Given the description of an element on the screen output the (x, y) to click on. 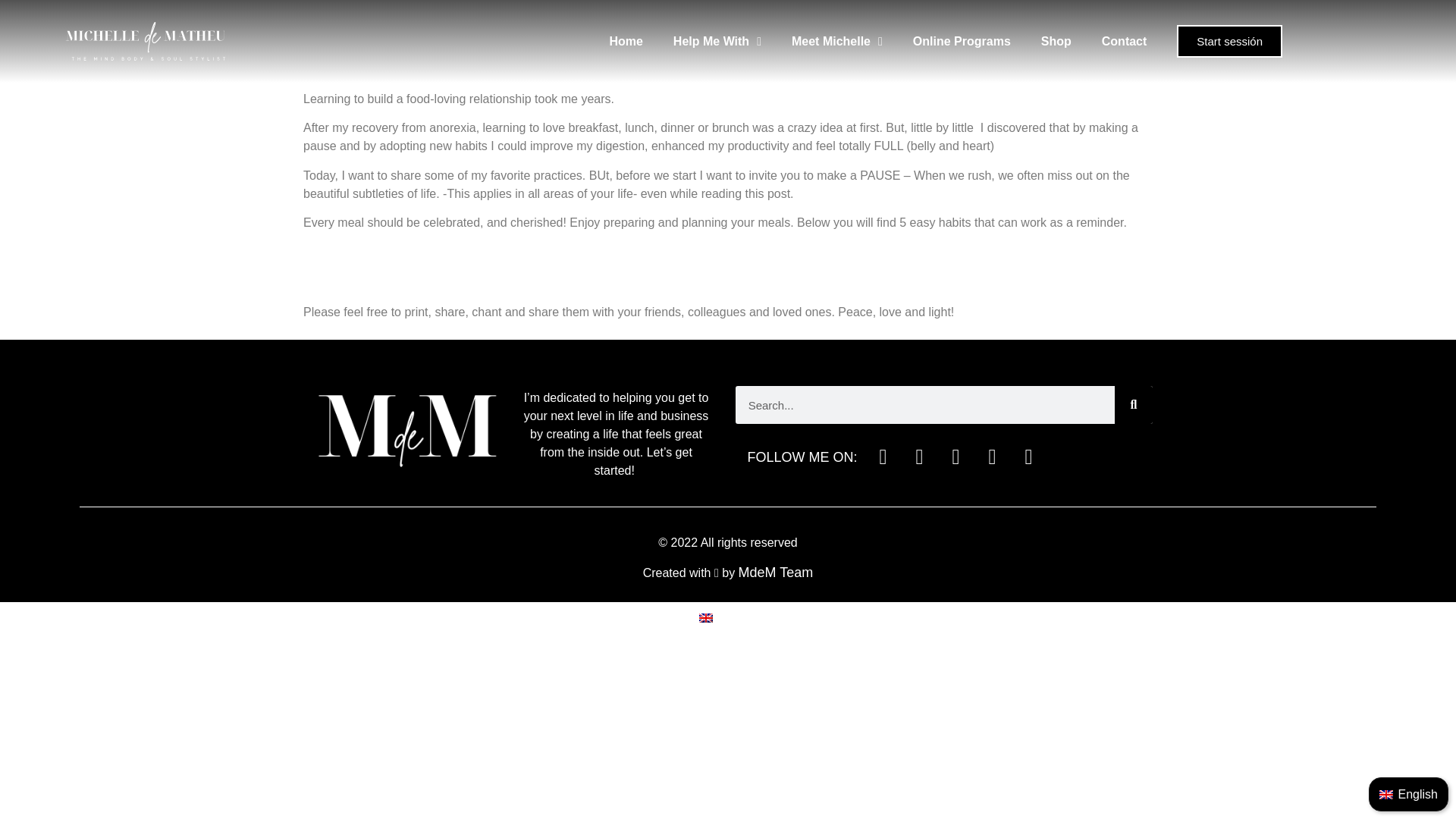
Online Programs (962, 41)
Home (626, 41)
Shop (1056, 41)
Meet Michelle (837, 41)
Help Me With (717, 41)
Contact (1123, 41)
